Given the description of an element on the screen output the (x, y) to click on. 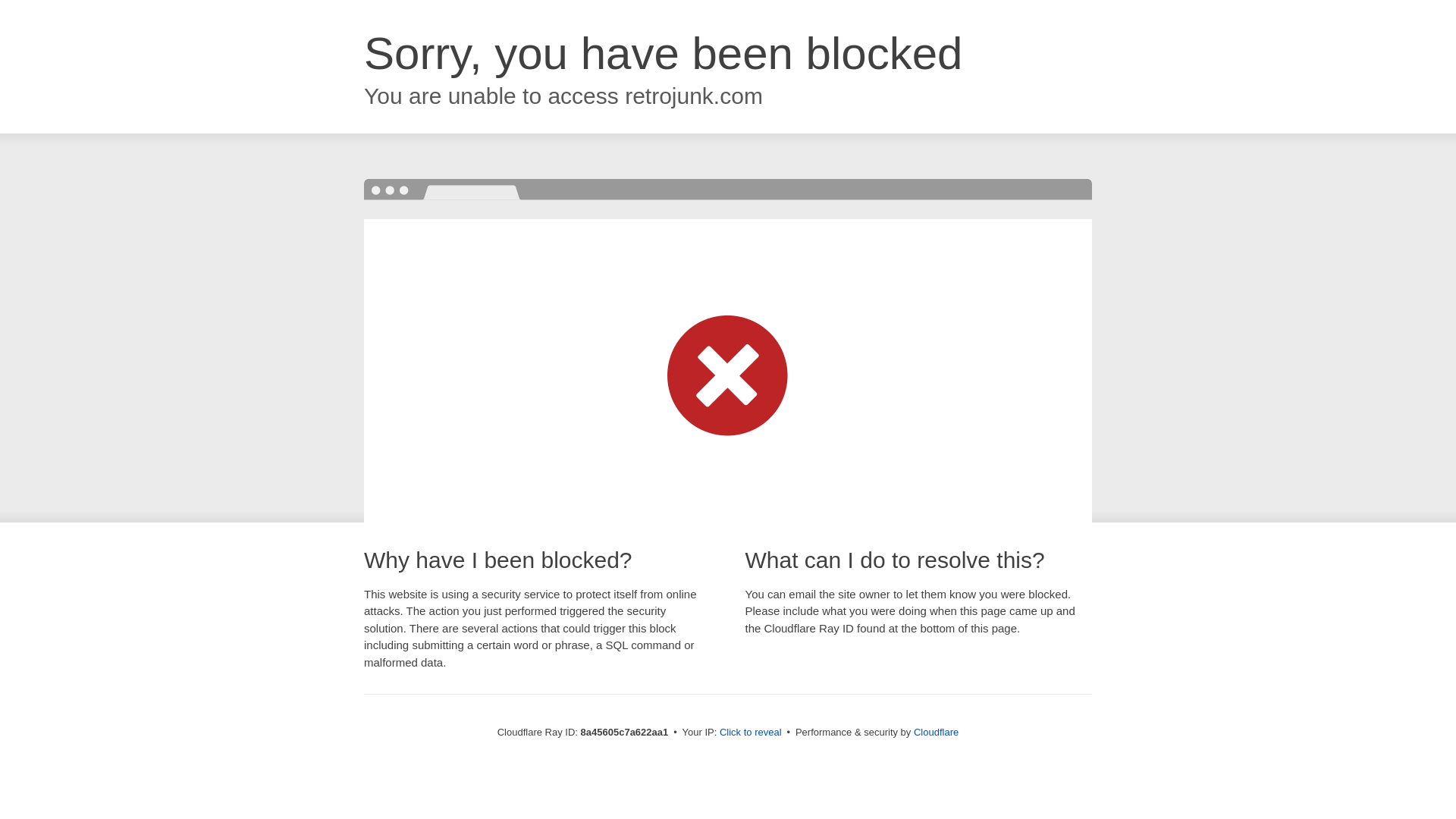
Click to reveal (750, 732)
Cloudflare (936, 731)
